Given the description of an element on the screen output the (x, y) to click on. 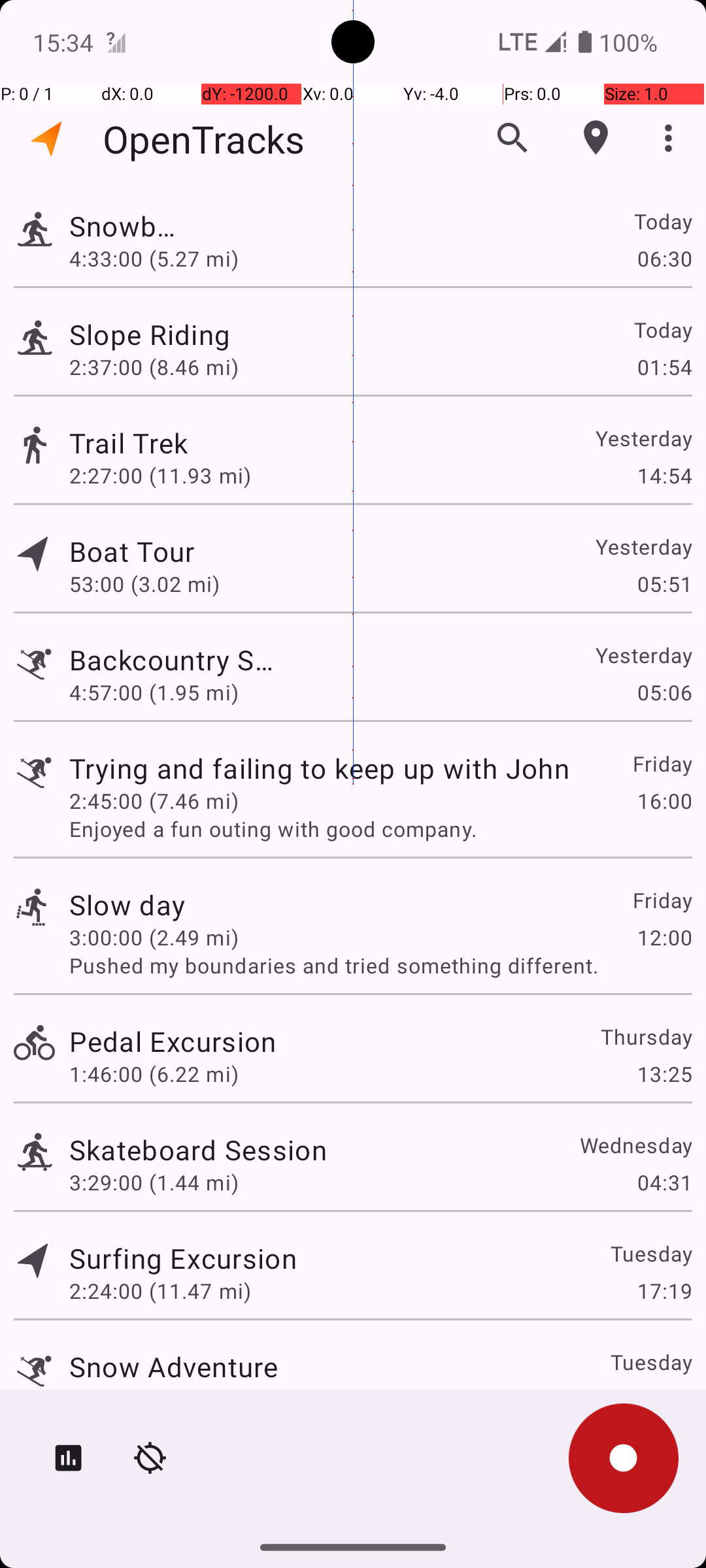
Snowboard Challenge Element type: android.widget.TextView (126, 225)
4:33:00 (5.27 mi) Element type: android.widget.TextView (153, 258)
06:30 Element type: android.widget.TextView (664, 258)
Slope Riding Element type: android.widget.TextView (172, 333)
2:37:00 (8.46 mi) Element type: android.widget.TextView (153, 366)
01:54 Element type: android.widget.TextView (664, 366)
Trail Trek Element type: android.widget.TextView (197, 442)
2:27:00 (11.93 mi) Element type: android.widget.TextView (159, 475)
14:54 Element type: android.widget.TextView (664, 475)
Boat Tour Element type: android.widget.TextView (182, 550)
53:00 (3.02 mi) Element type: android.widget.TextView (159, 583)
05:51 Element type: android.widget.TextView (664, 583)
Backcountry Skiing Element type: android.widget.TextView (173, 659)
4:57:00 (1.95 mi) Element type: android.widget.TextView (153, 692)
05:06 Element type: android.widget.TextView (664, 692)
Trying and failing to keep up with John Element type: android.widget.TextView (319, 767)
2:45:00 (7.46 mi) Element type: android.widget.TextView (153, 800)
Enjoyed a fun outing with good company. Element type: android.widget.TextView (380, 828)
Slow day Element type: android.widget.TextView (126, 904)
3:00:00 (2.49 mi) Element type: android.widget.TextView (153, 937)
Pushed my boundaries and tried something different. Element type: android.widget.TextView (380, 965)
Pedal Excursion Element type: android.widget.TextView (172, 1040)
1:46:00 (6.22 mi) Element type: android.widget.TextView (153, 1073)
13:25 Element type: android.widget.TextView (664, 1073)
Skateboard Session Element type: android.widget.TextView (197, 1149)
3:29:00 (1.44 mi) Element type: android.widget.TextView (153, 1182)
04:31 Element type: android.widget.TextView (664, 1182)
Surfing Excursion Element type: android.widget.TextView (182, 1257)
2:24:00 (11.47 mi) Element type: android.widget.TextView (159, 1290)
17:19 Element type: android.widget.TextView (664, 1290)
Snow Adventure Element type: android.widget.TextView (173, 1366)
2:29:00 (3.59 mi) Element type: android.widget.TextView (153, 1399)
12:41 Element type: android.widget.TextView (664, 1399)
